Given the description of an element on the screen output the (x, y) to click on. 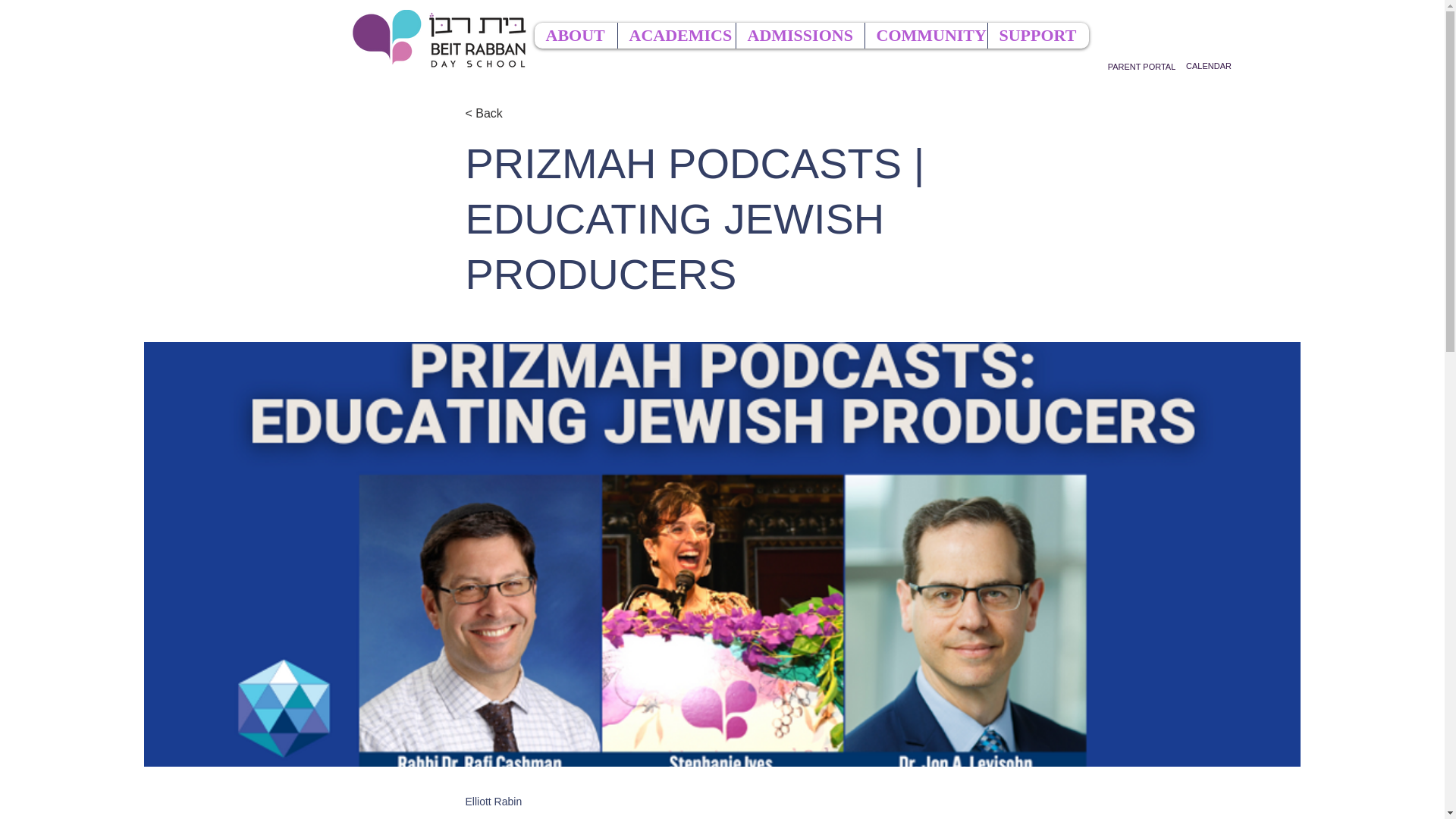
COMMUNITY (925, 35)
CALENDAR (1207, 66)
ABOUT (574, 35)
PARENT PORTAL (1141, 66)
ACADEMICS (676, 35)
ADMISSIONS (799, 35)
SUPPORT (1038, 35)
